Given the description of an element on the screen output the (x, y) to click on. 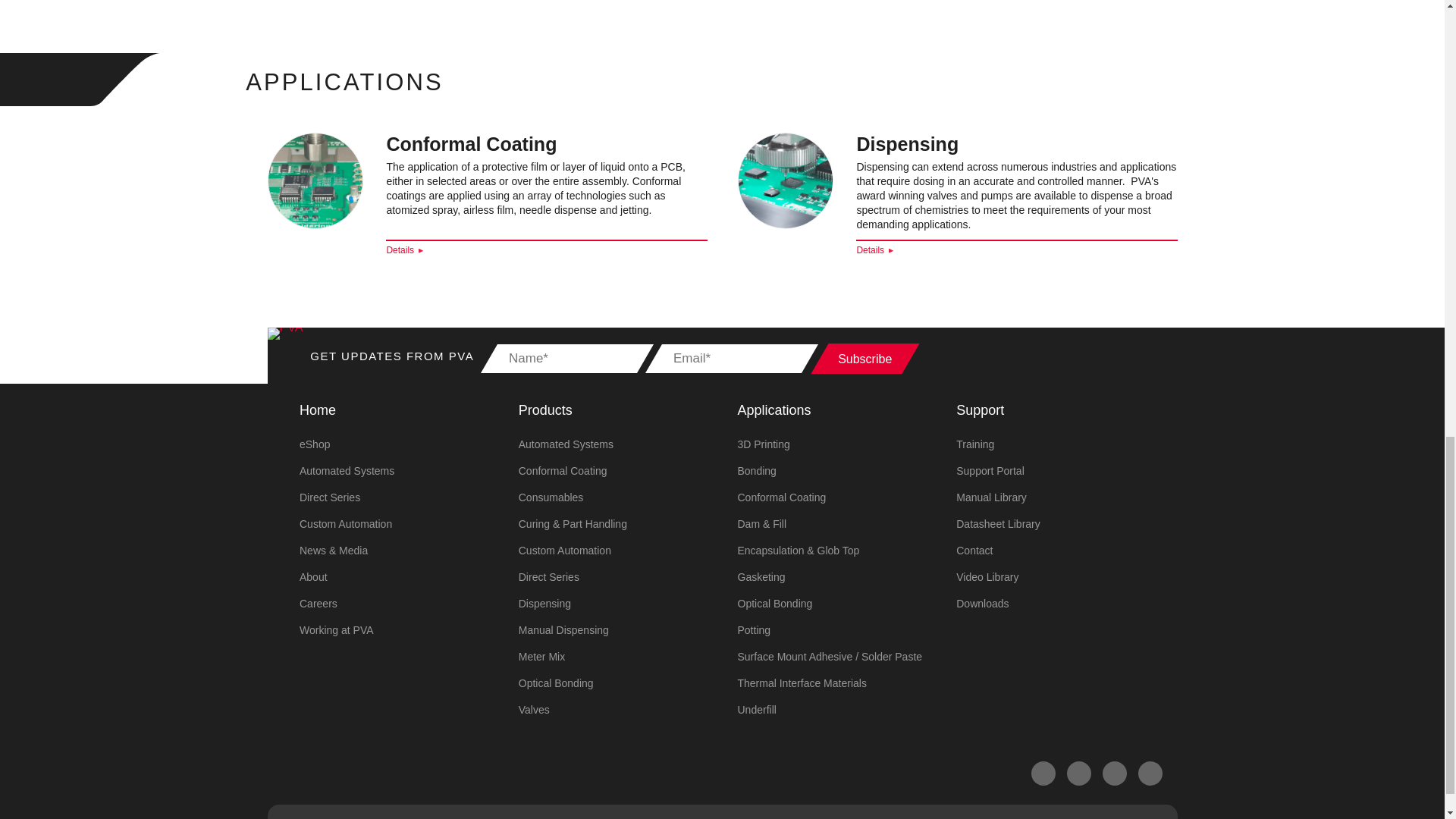
Connect with us on LinkedIn (1149, 773)
Follow us on Twitter (1077, 773)
Add us on Facebook (1042, 773)
Follow our YouTube Channel (1114, 773)
